Given the description of an element on the screen output the (x, y) to click on. 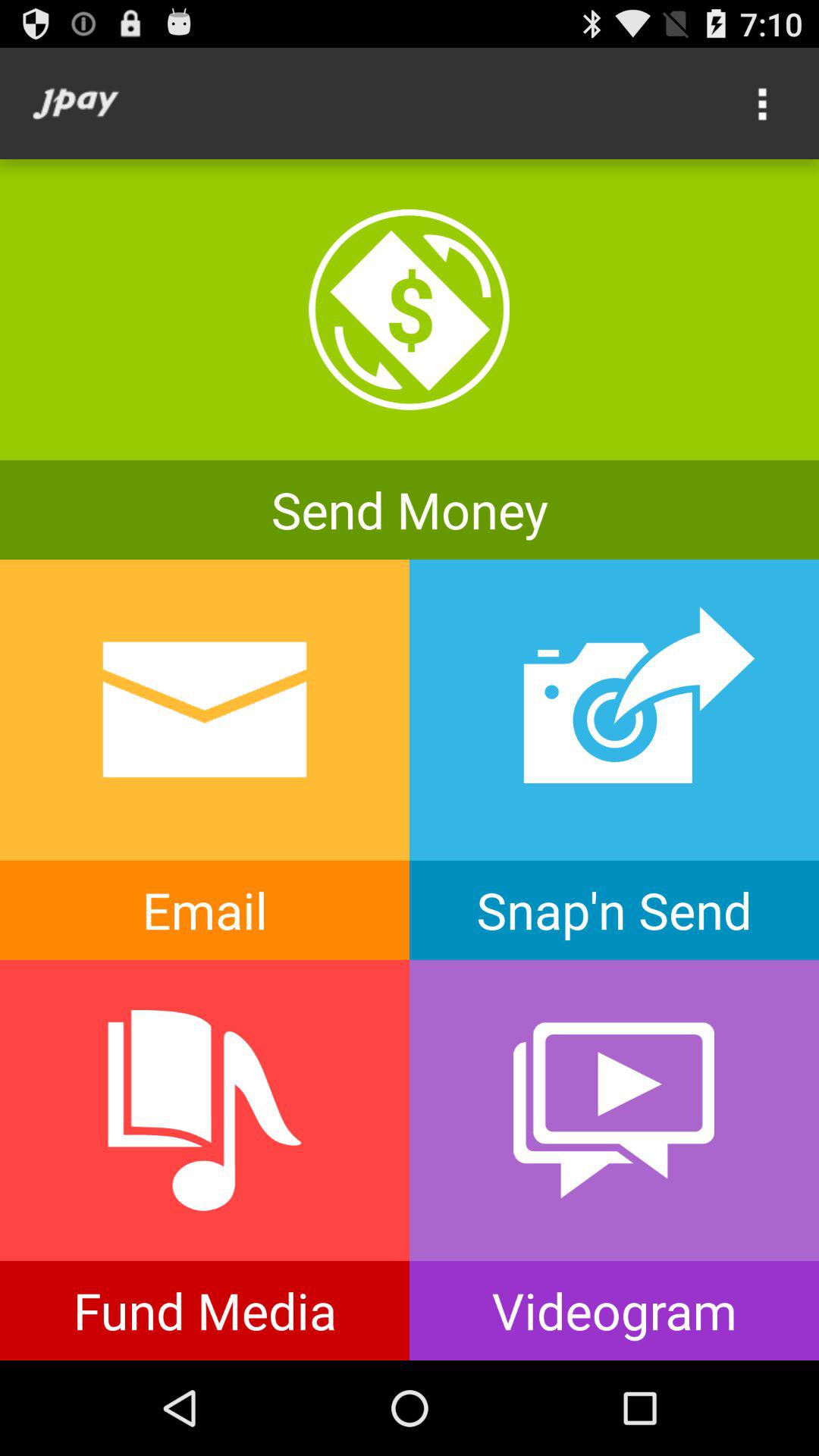
pay for music or videos (204, 1160)
